Given the description of an element on the screen output the (x, y) to click on. 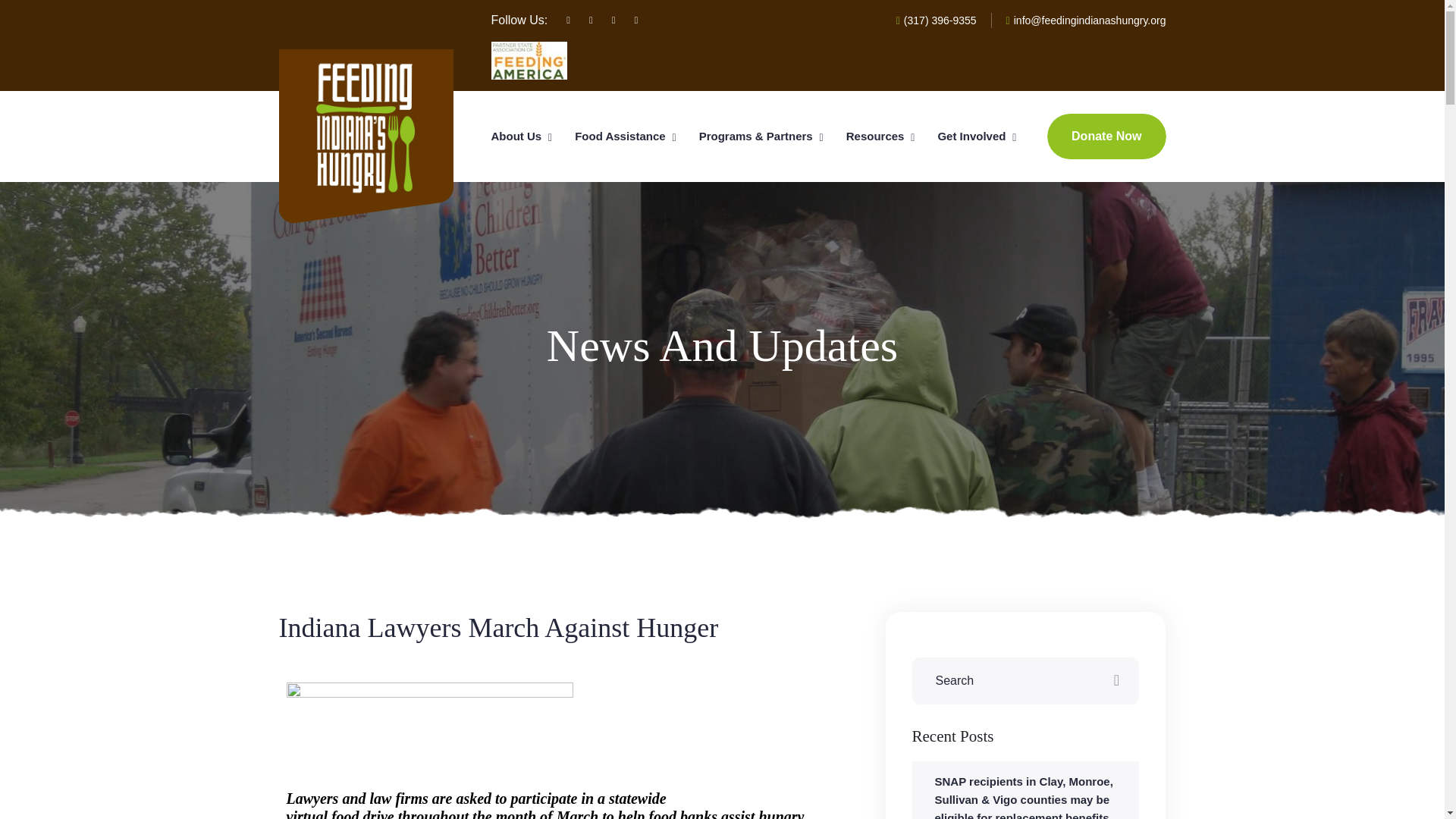
Food Assistance (620, 135)
Donate Now (1106, 135)
Get Involved (971, 135)
About Us (516, 135)
Resources (874, 135)
